Given the description of an element on the screen output the (x, y) to click on. 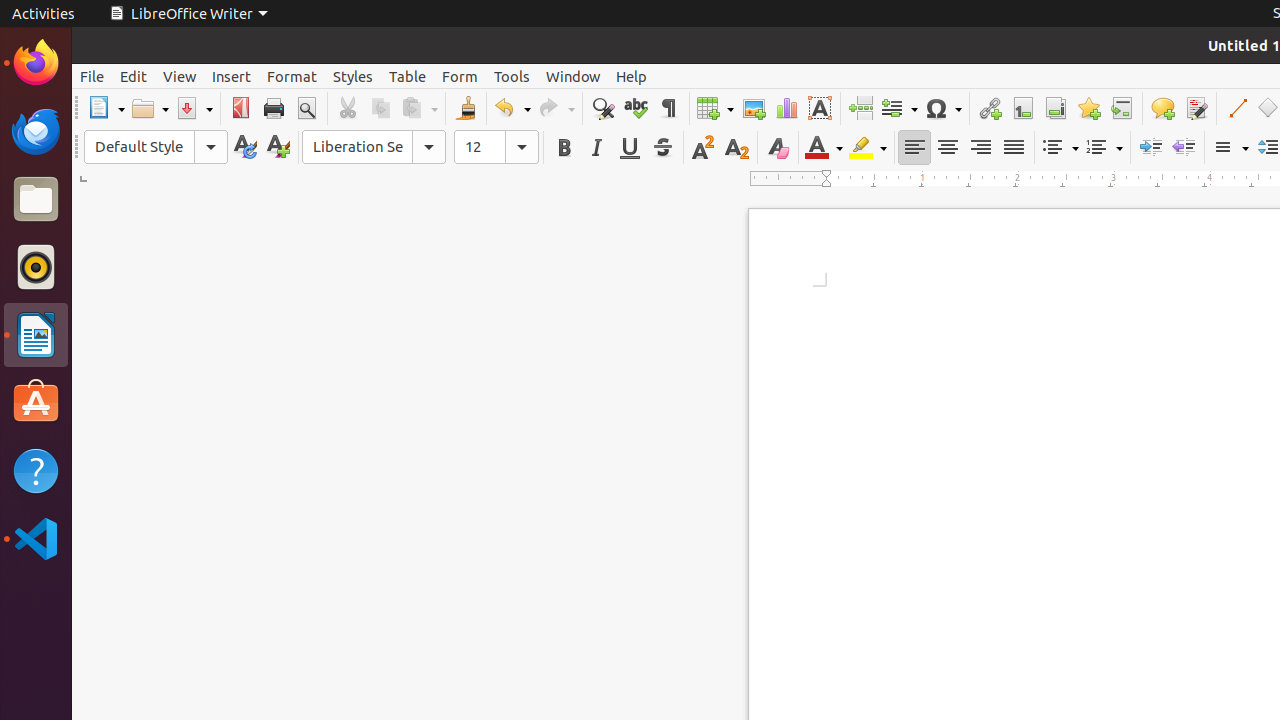
Paragraph Style Element type: combo-box (156, 147)
Font Color Element type: push-button (824, 147)
Font Size Element type: combo-box (496, 147)
Page Break Element type: push-button (860, 108)
Edit Element type: menu (133, 76)
